Given the description of an element on the screen output the (x, y) to click on. 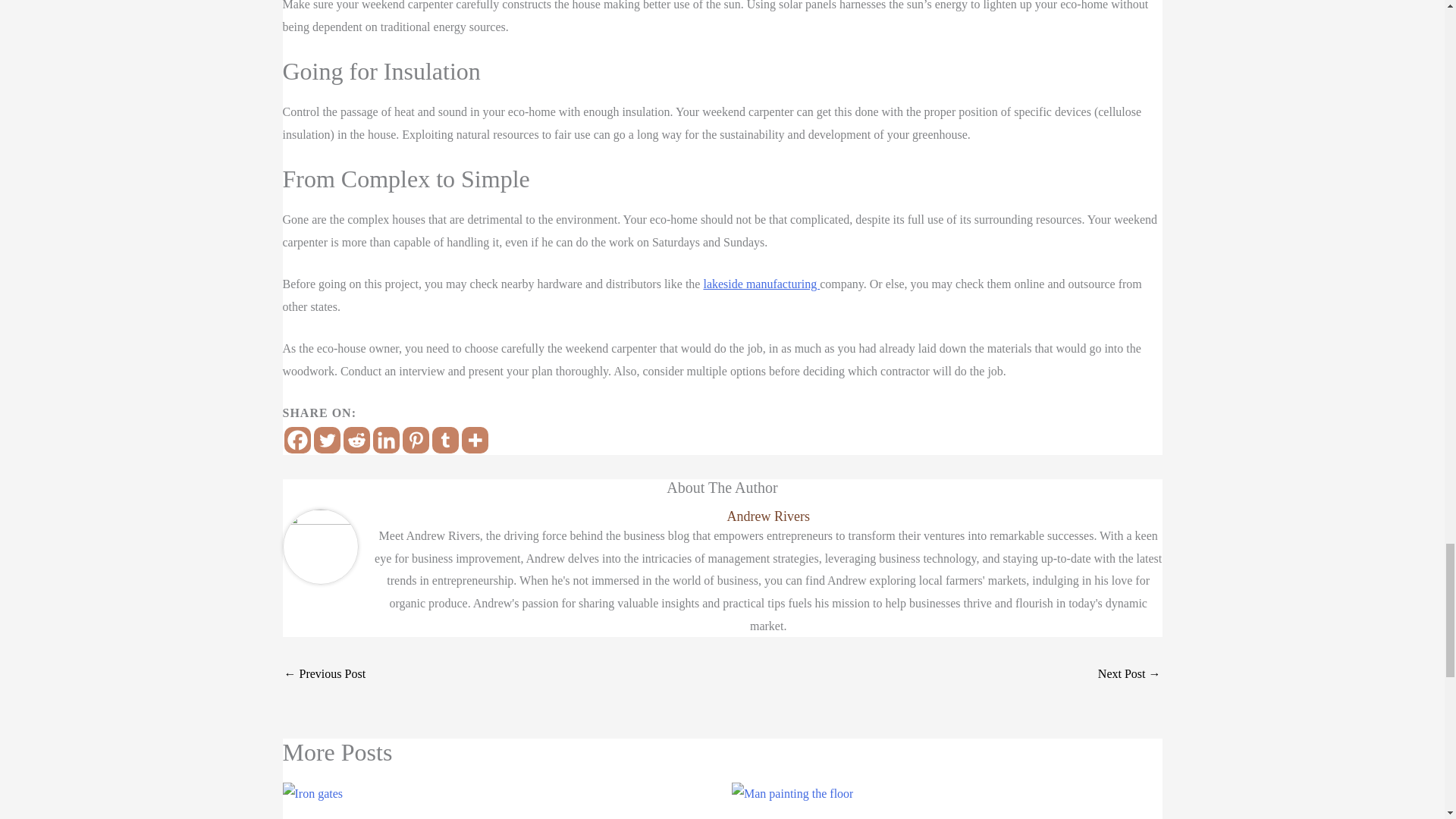
Linkedin (385, 439)
Andrew Rivers (767, 516)
Twitter (327, 439)
Tumblr (445, 439)
lakeside manufacturing  (761, 283)
Facebook (296, 439)
Dealing with a Co-op Board: 3 Things You Need to Know (1128, 674)
Pinterest (414, 439)
